Given the description of an element on the screen output the (x, y) to click on. 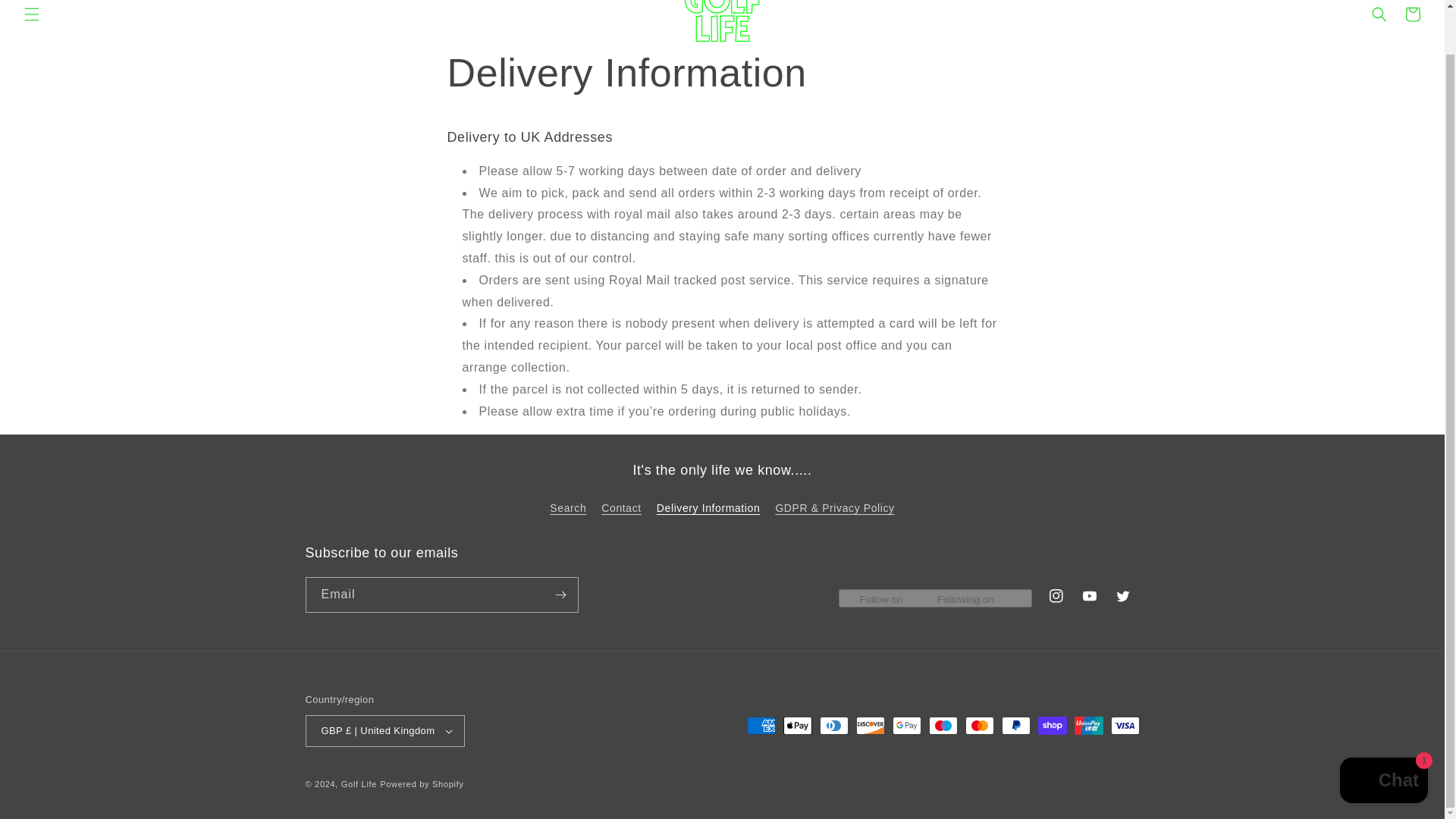
Twitter (1121, 595)
Delivery Information (708, 508)
Golf Life (358, 783)
Contact (620, 508)
Powered by Shopify (421, 783)
YouTube (1088, 595)
Shopify online store chat (1383, 735)
Instagram (1055, 595)
Cart (1412, 15)
Search (568, 509)
